Given the description of an element on the screen output the (x, y) to click on. 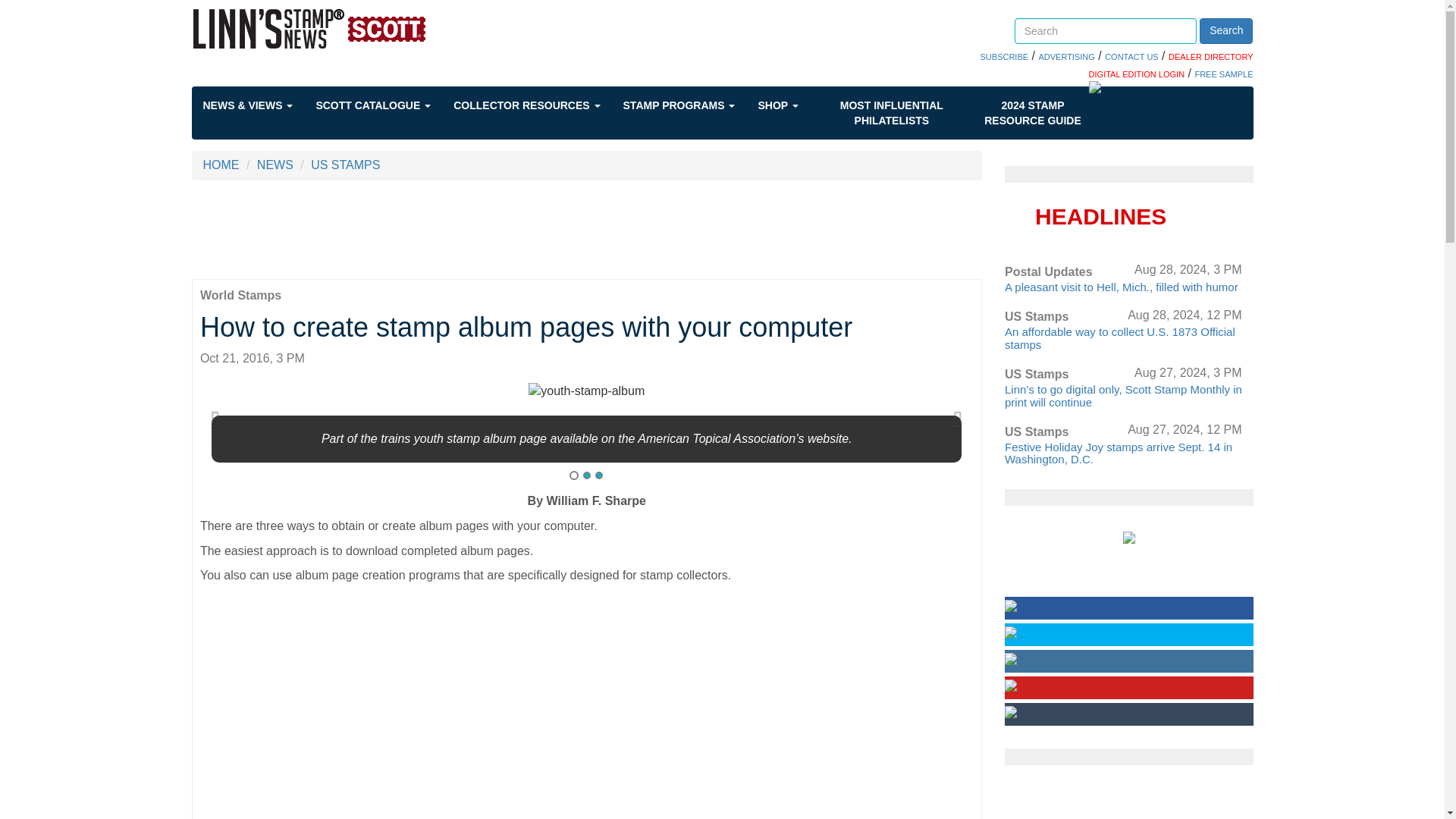
SCOTT CATALOGUE (383, 105)
Linn's Stamp News (352, 28)
DEALER DIRECTORY (1210, 56)
Search (1225, 31)
COLLECTOR RESOURCES (537, 105)
CONTACT US (1131, 56)
DIGITAL EDITION LOGIN (1137, 73)
FREE SAMPLE (1222, 73)
ADVERTISING (1066, 56)
Search input (1105, 31)
